Given the description of an element on the screen output the (x, y) to click on. 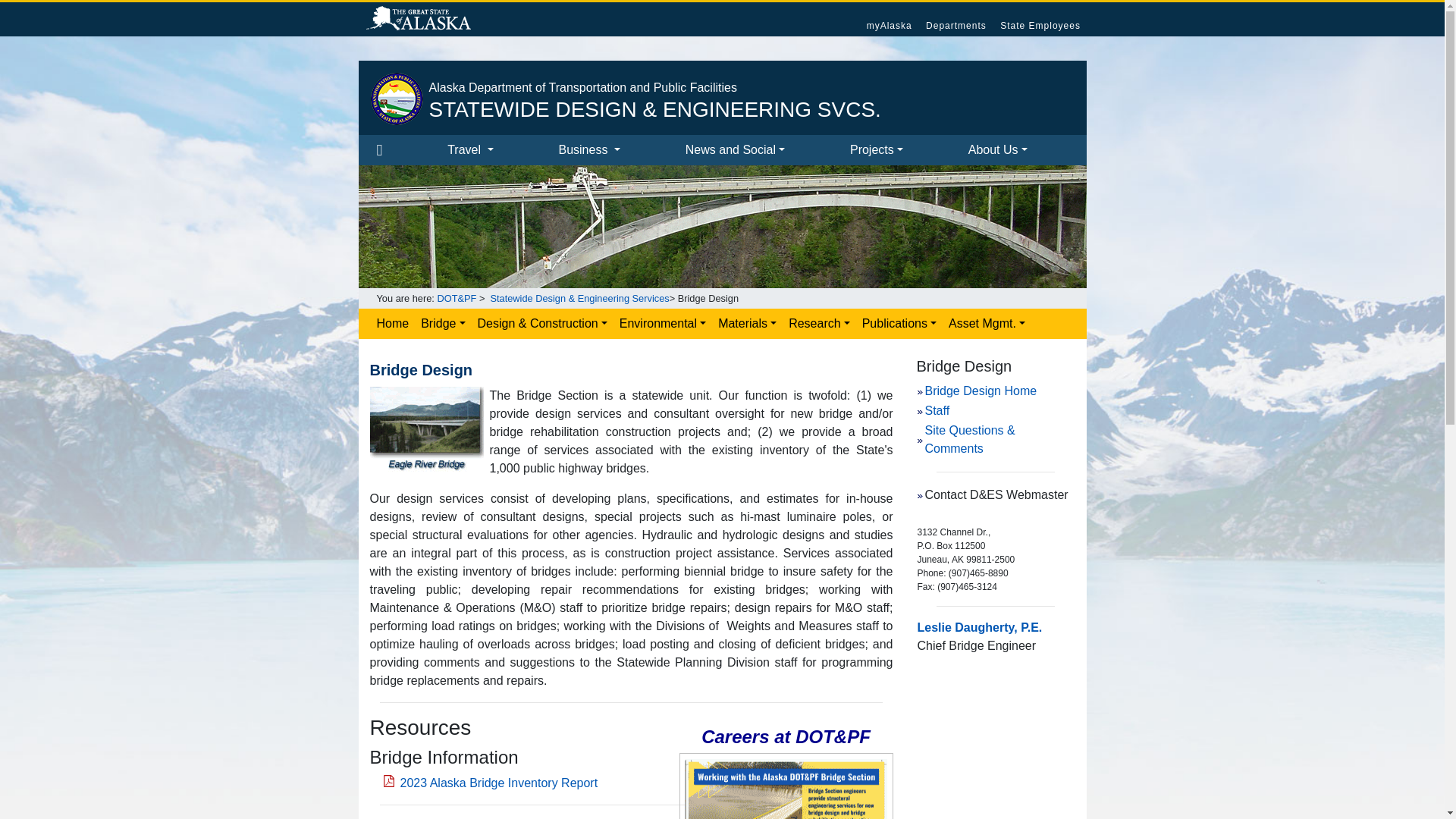
News and Social (761, 150)
Departments (956, 25)
PDF Document (631, 782)
State Employees (1040, 25)
myAlaska (888, 25)
Travel (496, 150)
Business (614, 150)
State of Alaska (419, 19)
